Given the description of an element on the screen output the (x, y) to click on. 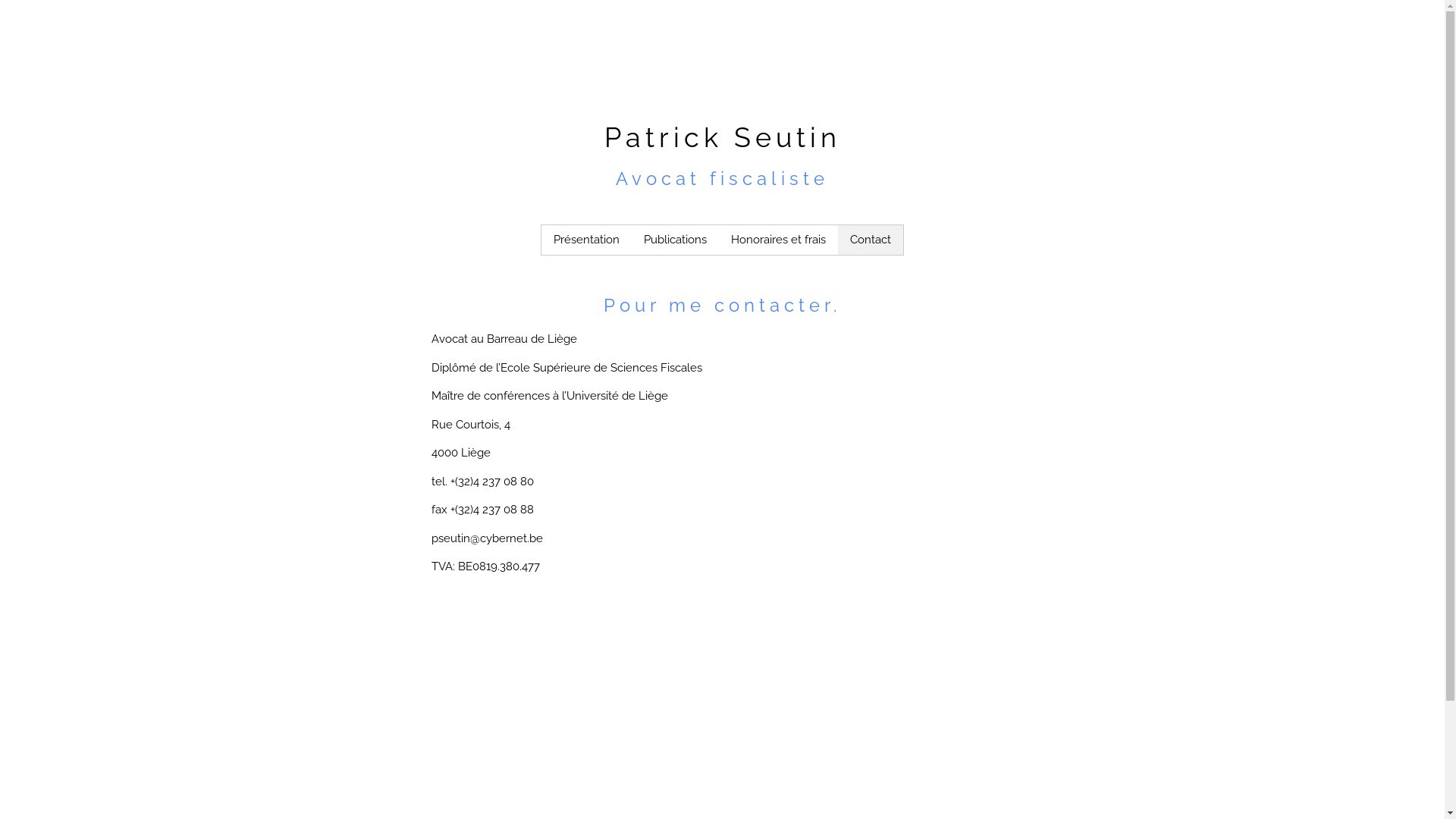
Contact Element type: text (870, 239)
Honoraires et frais Element type: text (777, 239)
Publications Element type: text (674, 239)
